Given the description of an element on the screen output the (x, y) to click on. 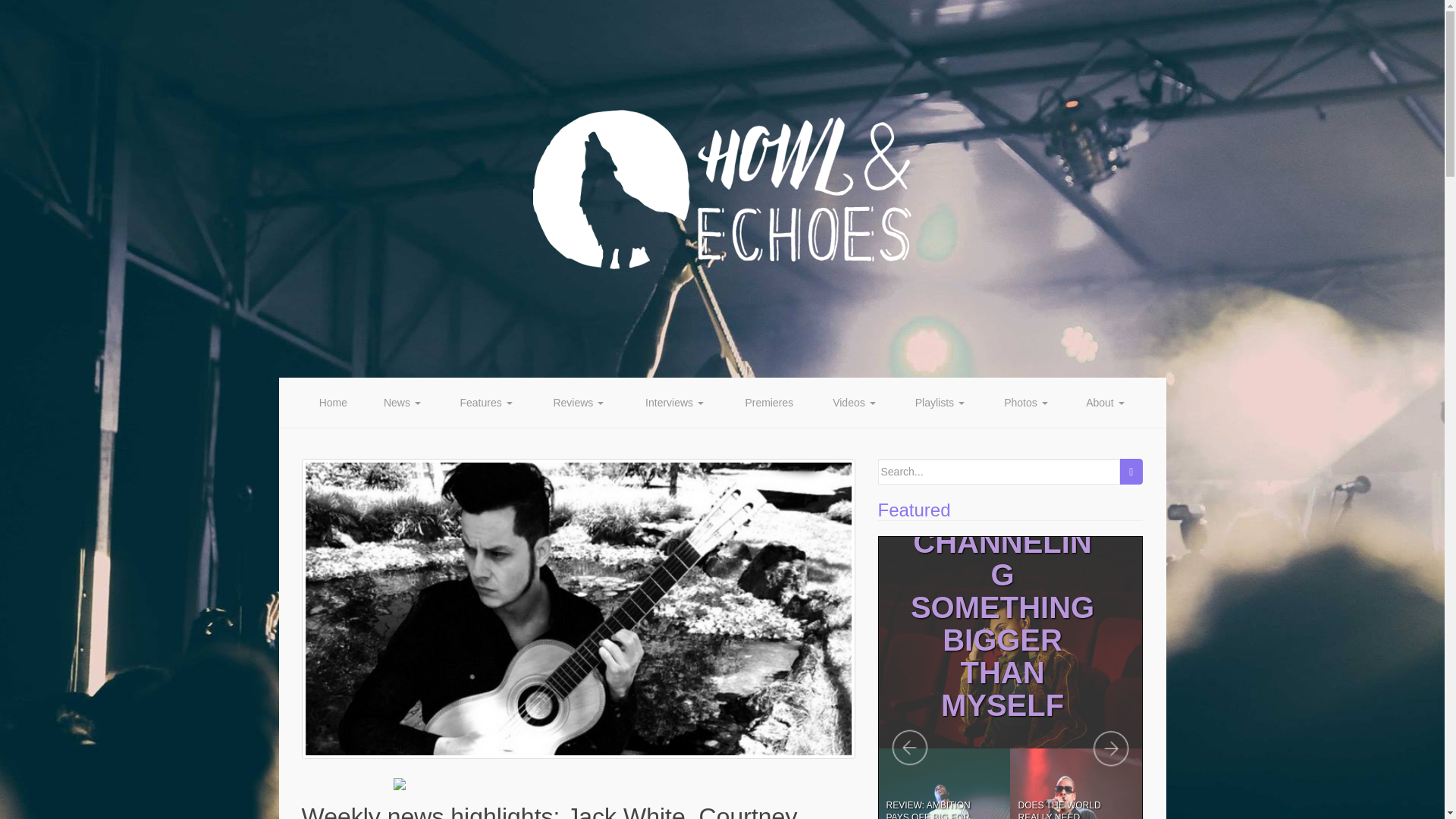
Reviews (578, 402)
Videos (854, 402)
Interviews (674, 402)
Playlists (939, 402)
News (402, 402)
Interviews (674, 402)
Photos (1026, 402)
Home (333, 402)
About (1104, 402)
Premieres (769, 402)
